Given the description of an element on the screen output the (x, y) to click on. 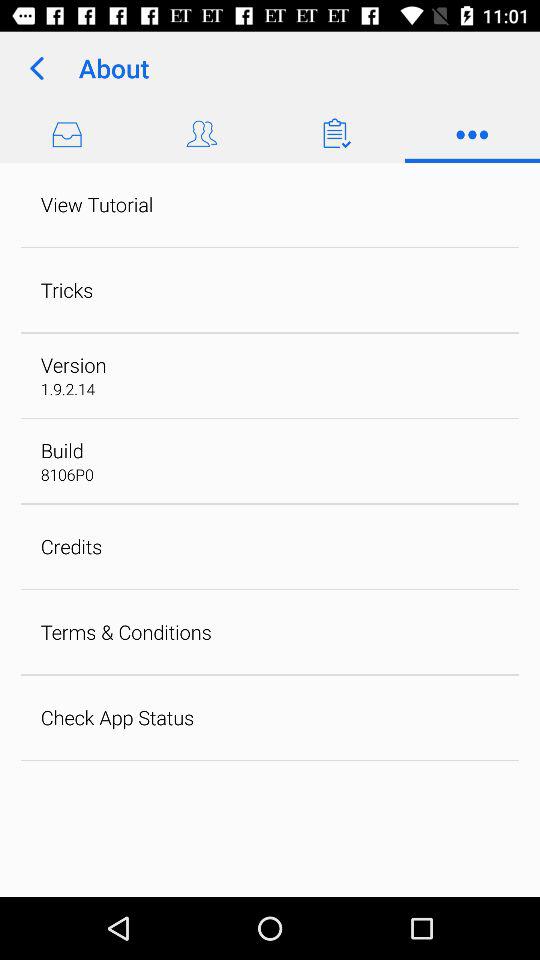
turn off view tutorial icon (96, 204)
